Given the description of an element on the screen output the (x, y) to click on. 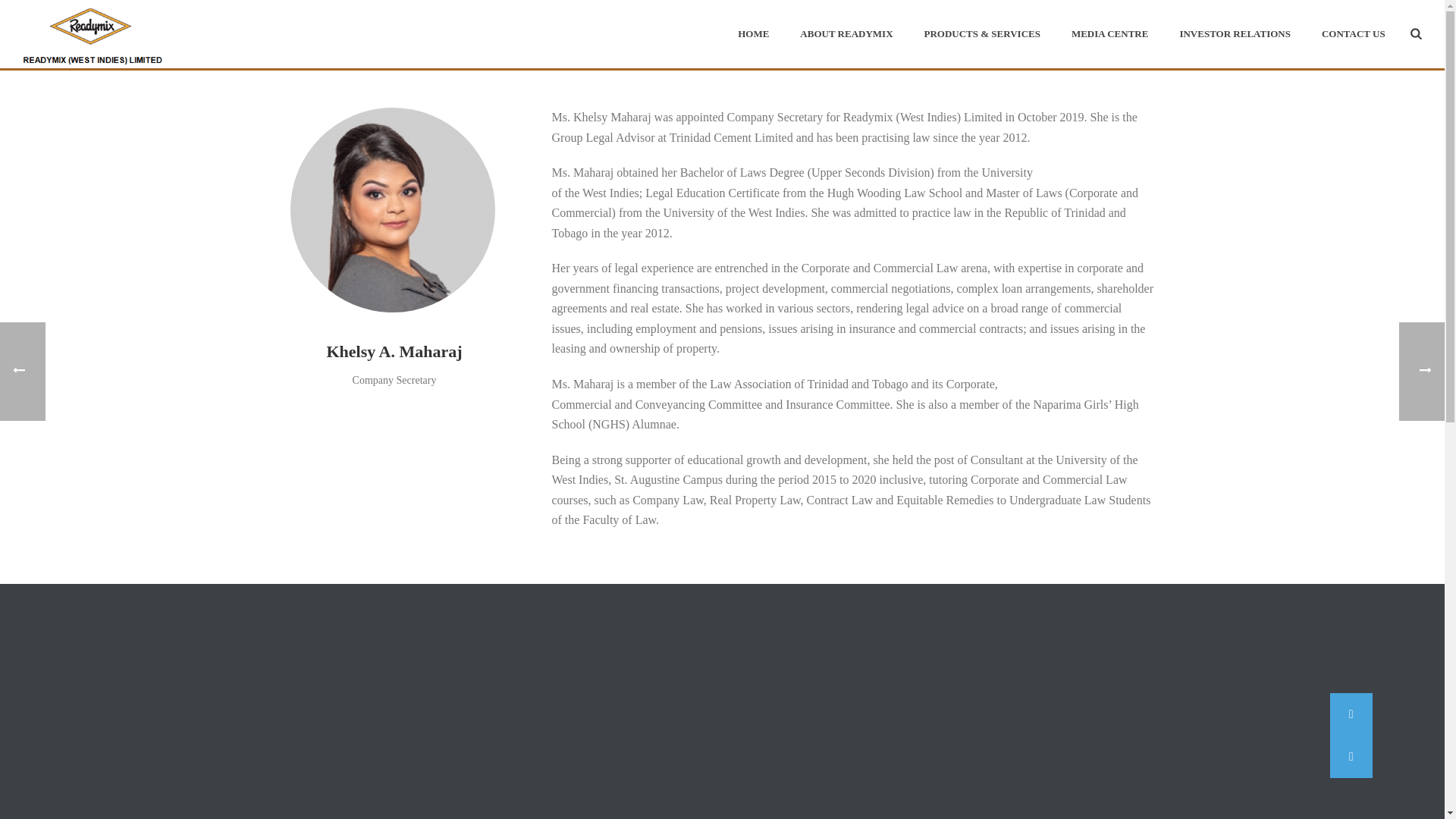
ABOUT READYMIX (845, 33)
Khelsy A. Maharaj (392, 209)
INVESTOR RELATIONS (1234, 33)
HOME (753, 33)
CONTACT US (1353, 33)
MEDIA CENTRE (1110, 33)
ABOUT READYMIX (845, 33)
HOME (753, 33)
MEDIA CENTRE (1110, 33)
CONTACT US (1353, 33)
INVESTOR RELATIONS (1234, 33)
